Given the description of an element on the screen output the (x, y) to click on. 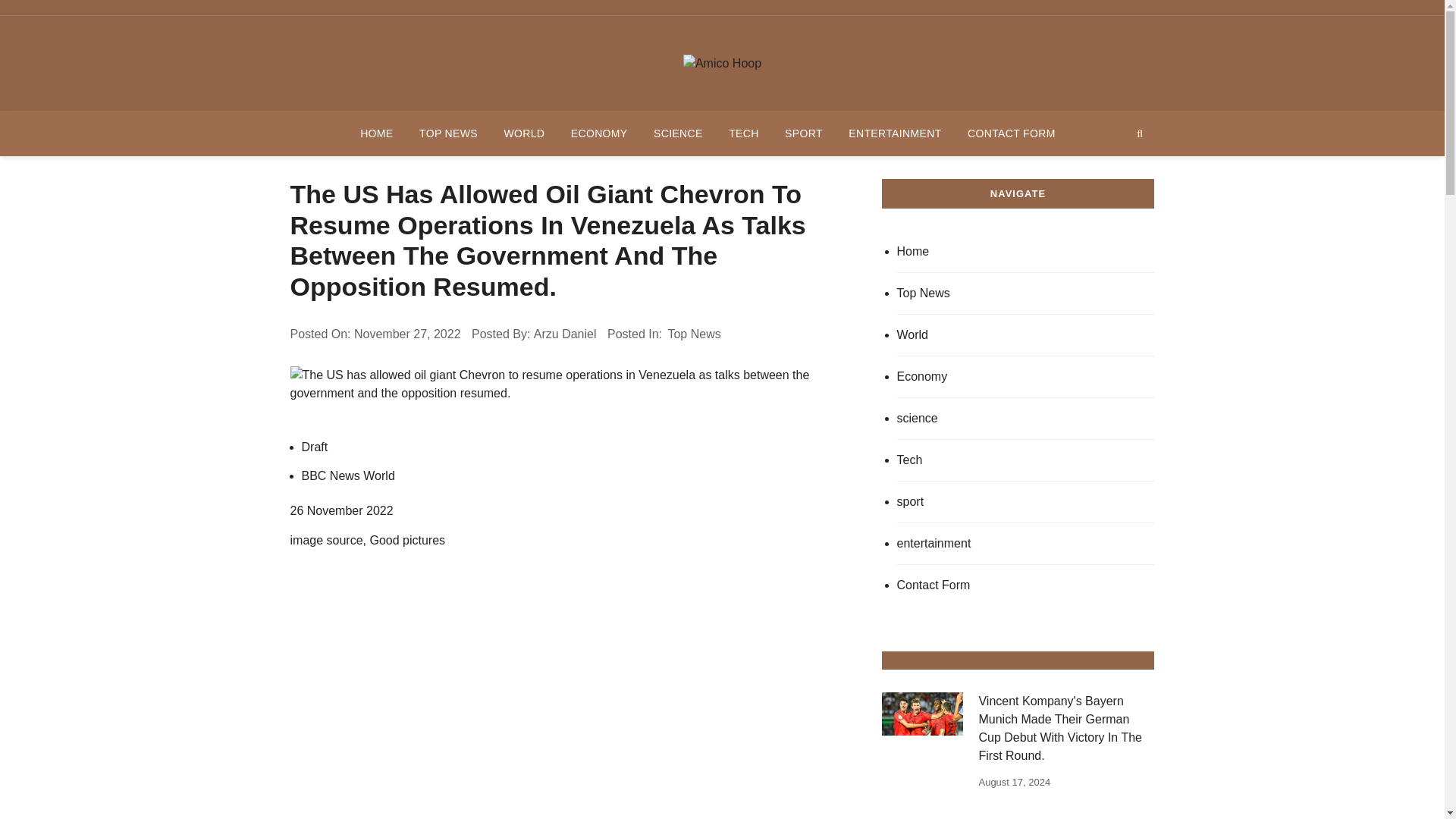
Top News (1025, 293)
ECONOMY (599, 133)
WORLD (524, 133)
science (1025, 418)
HOME (376, 133)
SPORT (803, 133)
TOP NEWS (448, 133)
Arzu Daniel (565, 334)
